Given the description of an element on the screen output the (x, y) to click on. 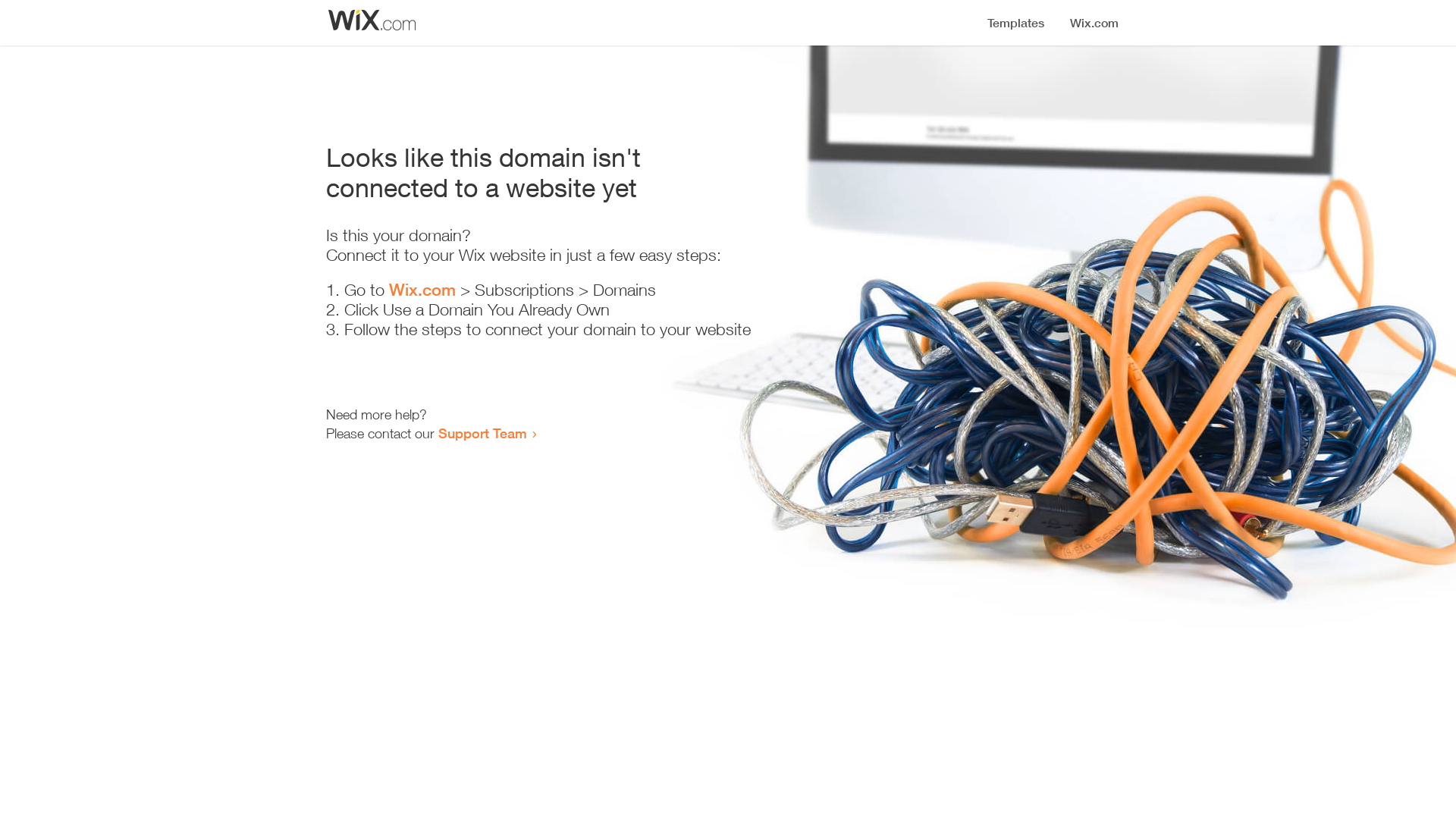
Wix.com Element type: text (422, 289)
Support Team Element type: text (482, 432)
